Given the description of an element on the screen output the (x, y) to click on. 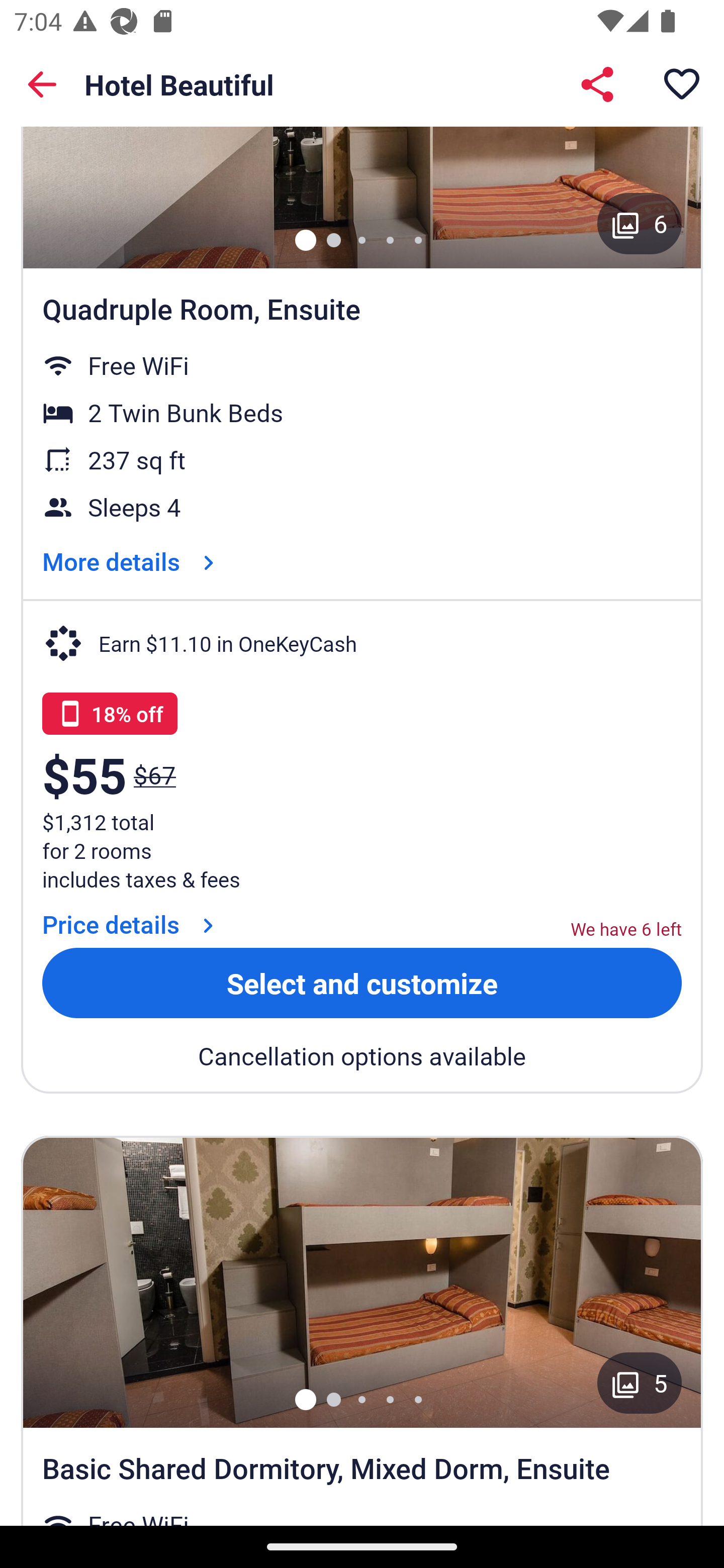
Back (42, 84)
Save property to a trip (681, 84)
Share Hotel Beautiful (597, 84)
Gallery button with 6 images (639, 223)
$67 The price was $67 (154, 774)
In-room safe, soundproofing, free WiFi, bed sheets (361, 1281)
Gallery button with 5 images (639, 1382)
